Given the description of an element on the screen output the (x, y) to click on. 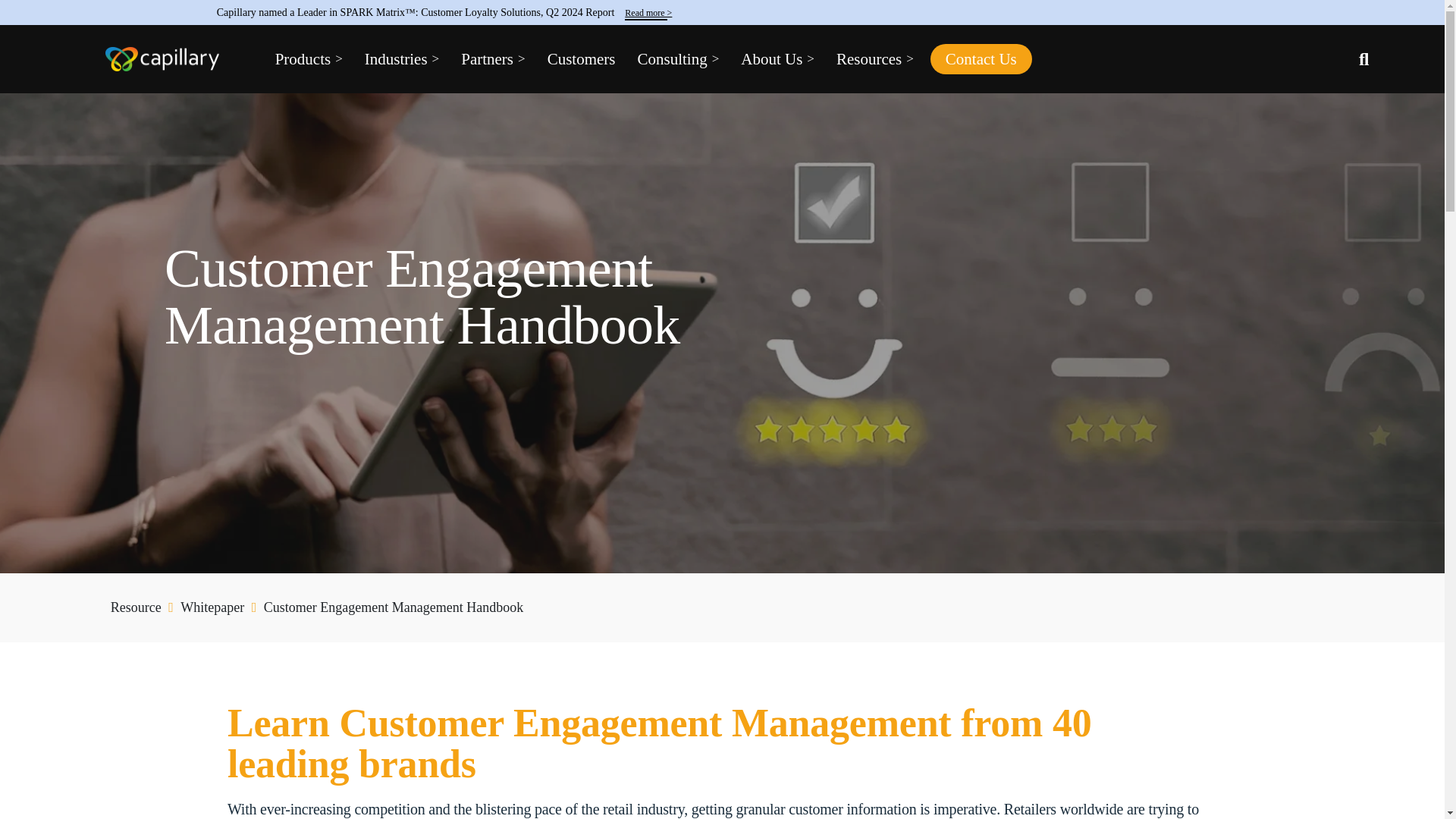
Customers (581, 59)
Partners (492, 59)
Contact Us (981, 59)
Products (308, 59)
Resources (874, 59)
Consulting (677, 59)
Industries (401, 59)
About Us (777, 59)
